Given the description of an element on the screen output the (x, y) to click on. 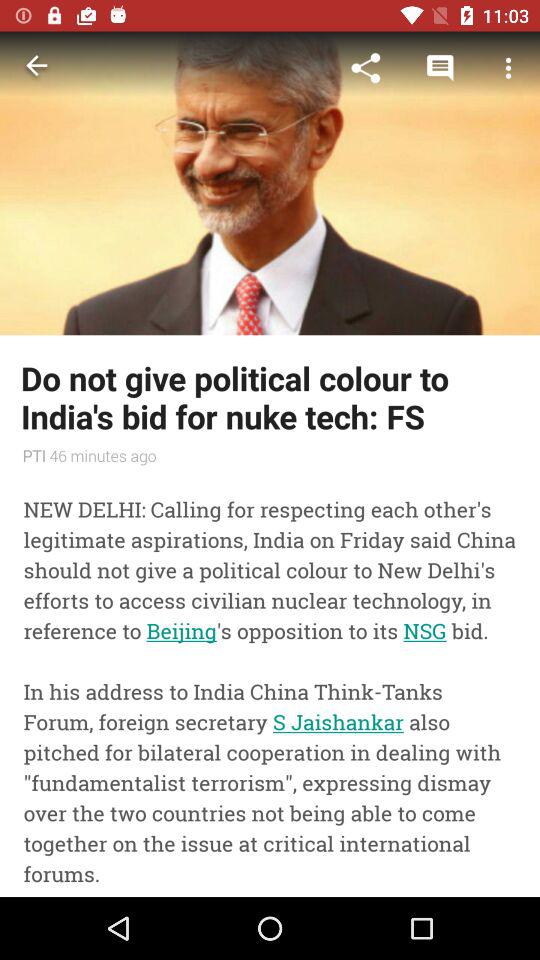
view image (270, 183)
